Given the description of an element on the screen output the (x, y) to click on. 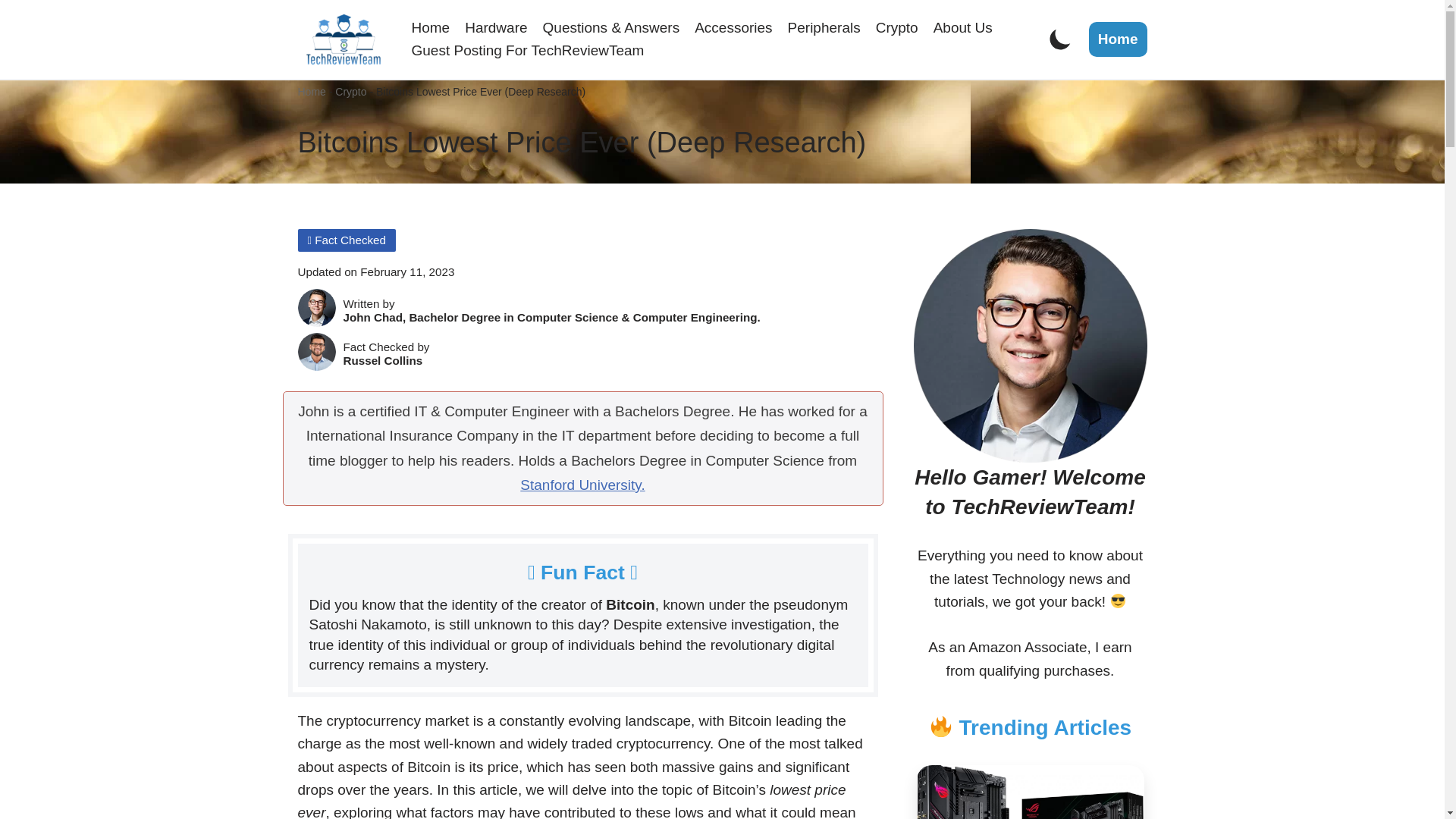
Crypto (350, 91)
Stanford University. (582, 484)
Home (1118, 39)
Skip to content (11, 31)
Hardware (495, 27)
TechReviewTeam (342, 39)
Crypto (897, 27)
Home (310, 91)
Peripherals (823, 27)
Home (429, 27)
Accessories (732, 27)
About Us (962, 27)
Guest Posting For TechReviewTeam (526, 50)
